Given the description of an element on the screen output the (x, y) to click on. 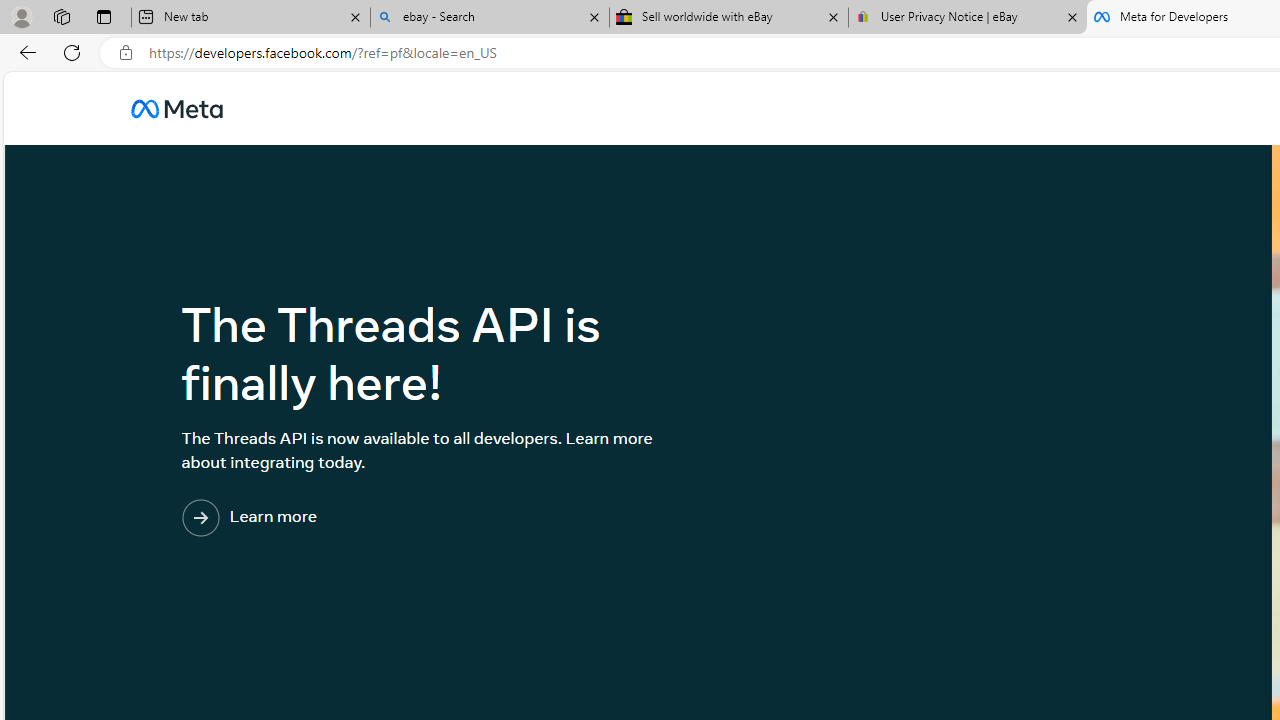
Learn more (331, 519)
AutomationID: u_0_25_3H (176, 107)
ebay - Search (490, 17)
Sell worldwide with eBay (729, 17)
User Privacy Notice | eBay (967, 17)
